Given the description of an element on the screen output the (x, y) to click on. 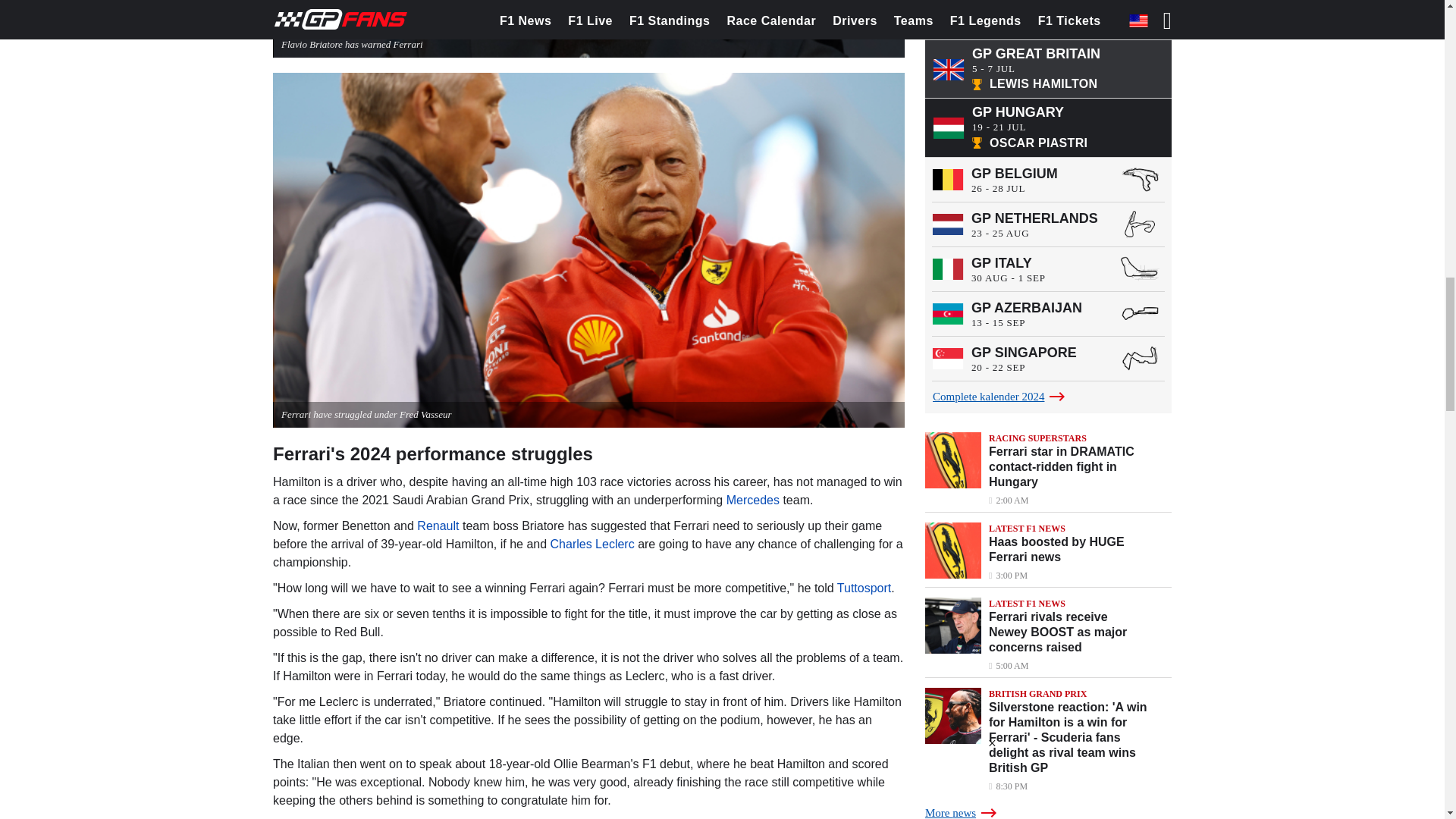
Charles Leclerc (592, 543)
Mercedes (752, 499)
Tuttosport (864, 587)
Tuttosport (864, 587)
Renault (437, 525)
